Given the description of an element on the screen output the (x, y) to click on. 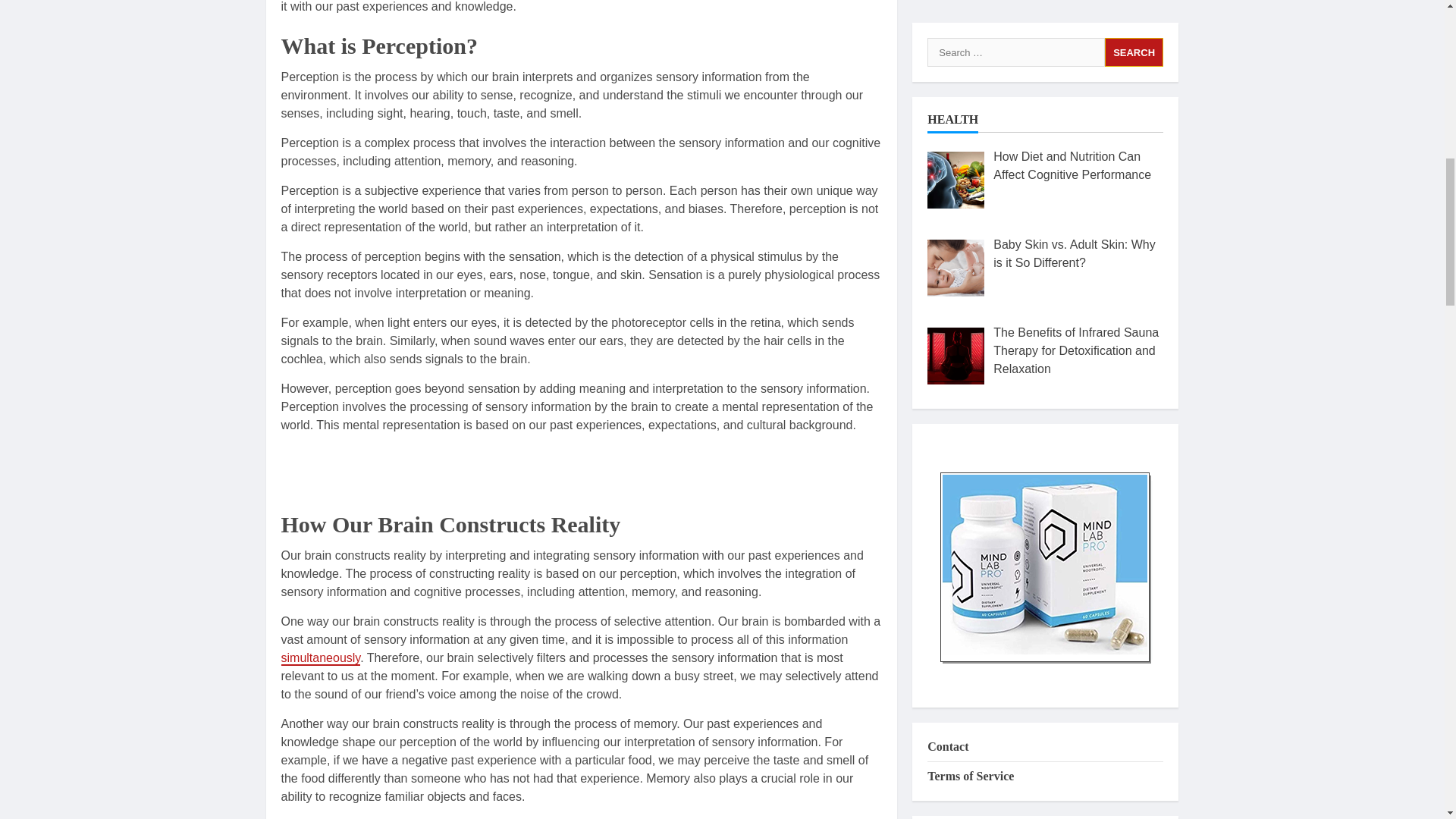
Subscribe (1045, 320)
simultaneously (320, 658)
